Given the description of an element on the screen output the (x, y) to click on. 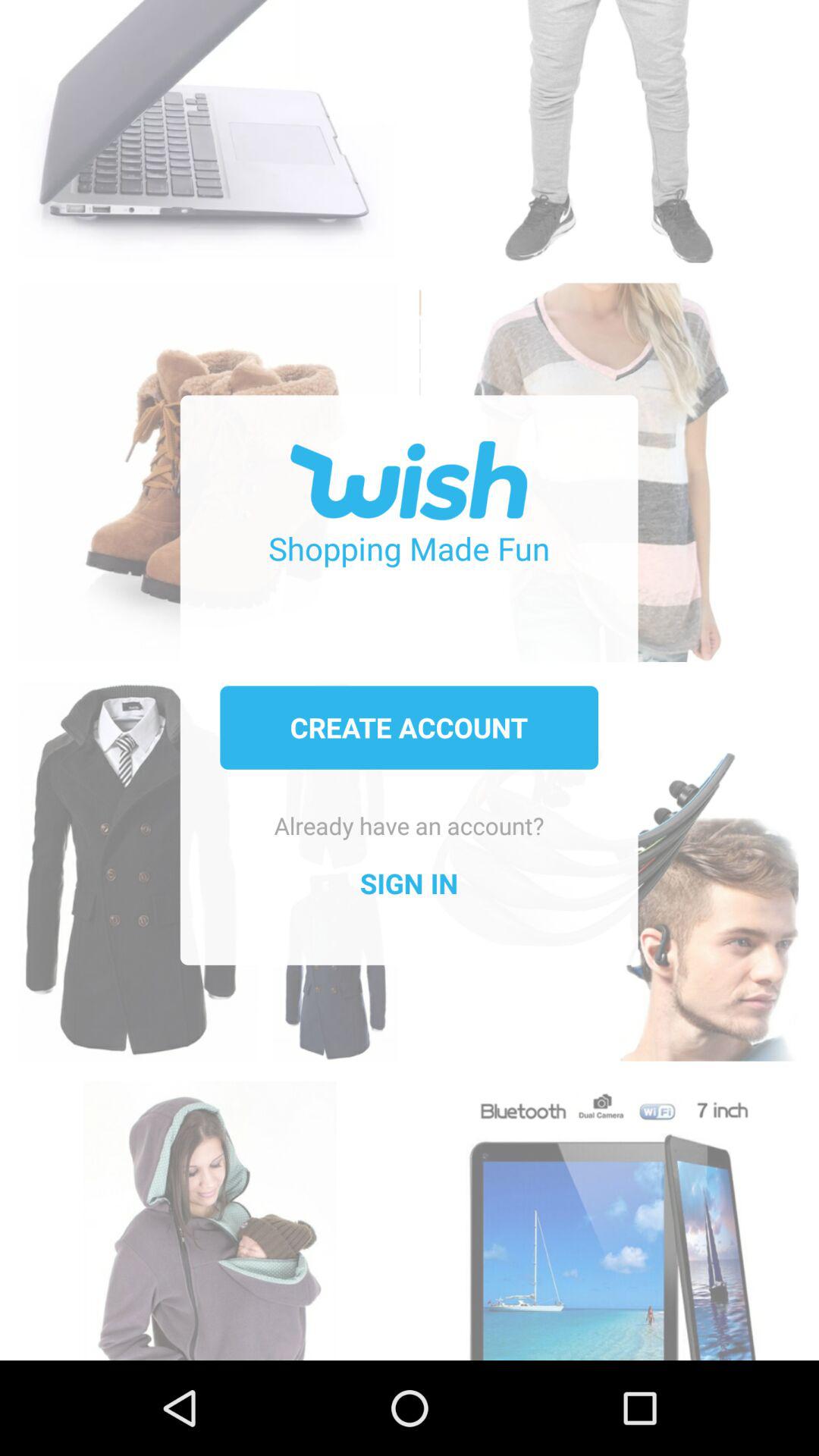
jump to sign in item (409, 883)
